Given the description of an element on the screen output the (x, y) to click on. 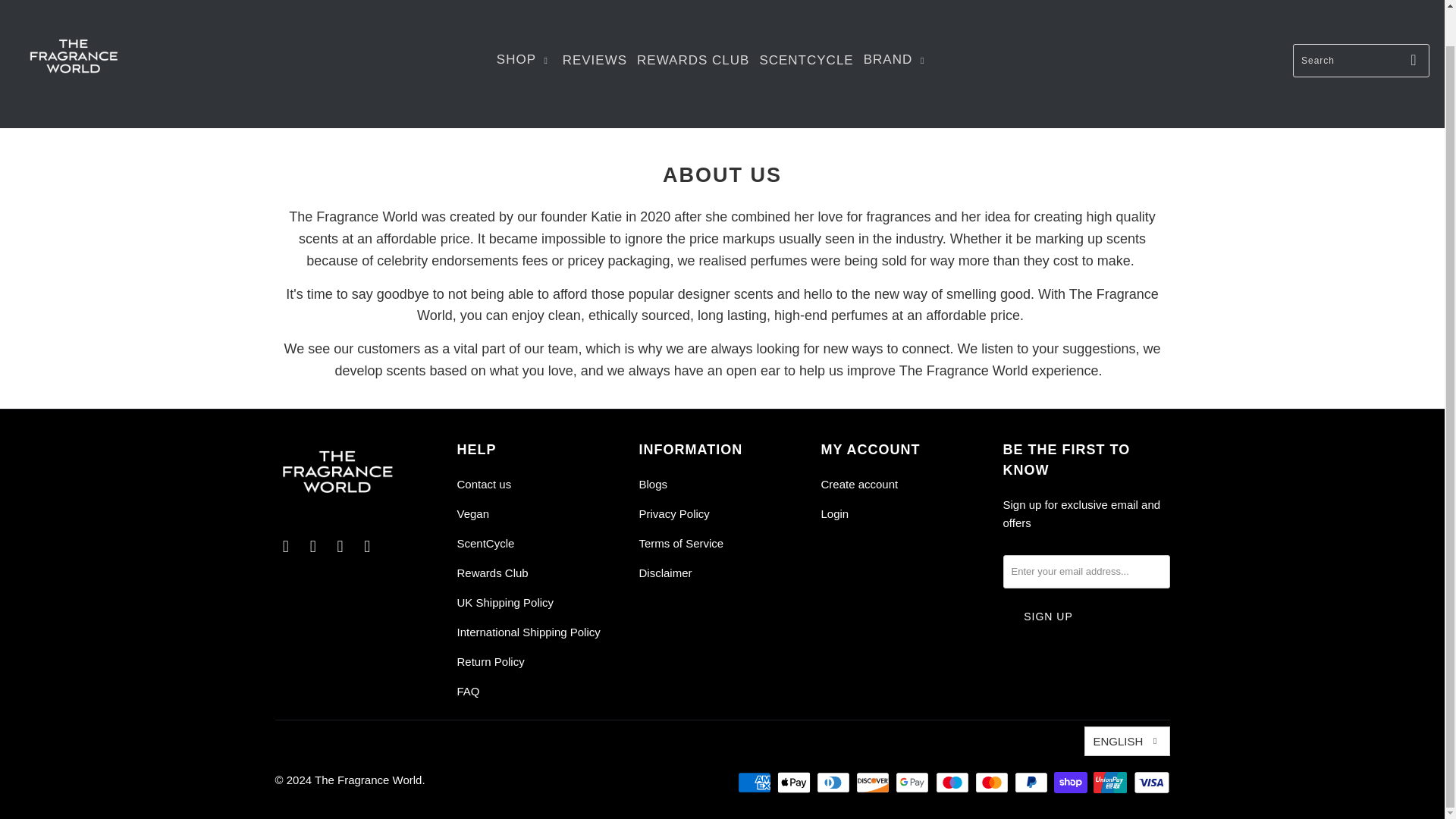
Shop Pay (1072, 782)
American Express (756, 782)
Union Pay (1111, 782)
PayPal (1032, 782)
The Fragrance World on Facebook (286, 546)
Sign Up (1048, 616)
Google Pay (913, 782)
The Fragrance World on Instagram (312, 546)
Apple Pay (795, 782)
Mastercard (993, 782)
